Given the description of an element on the screen output the (x, y) to click on. 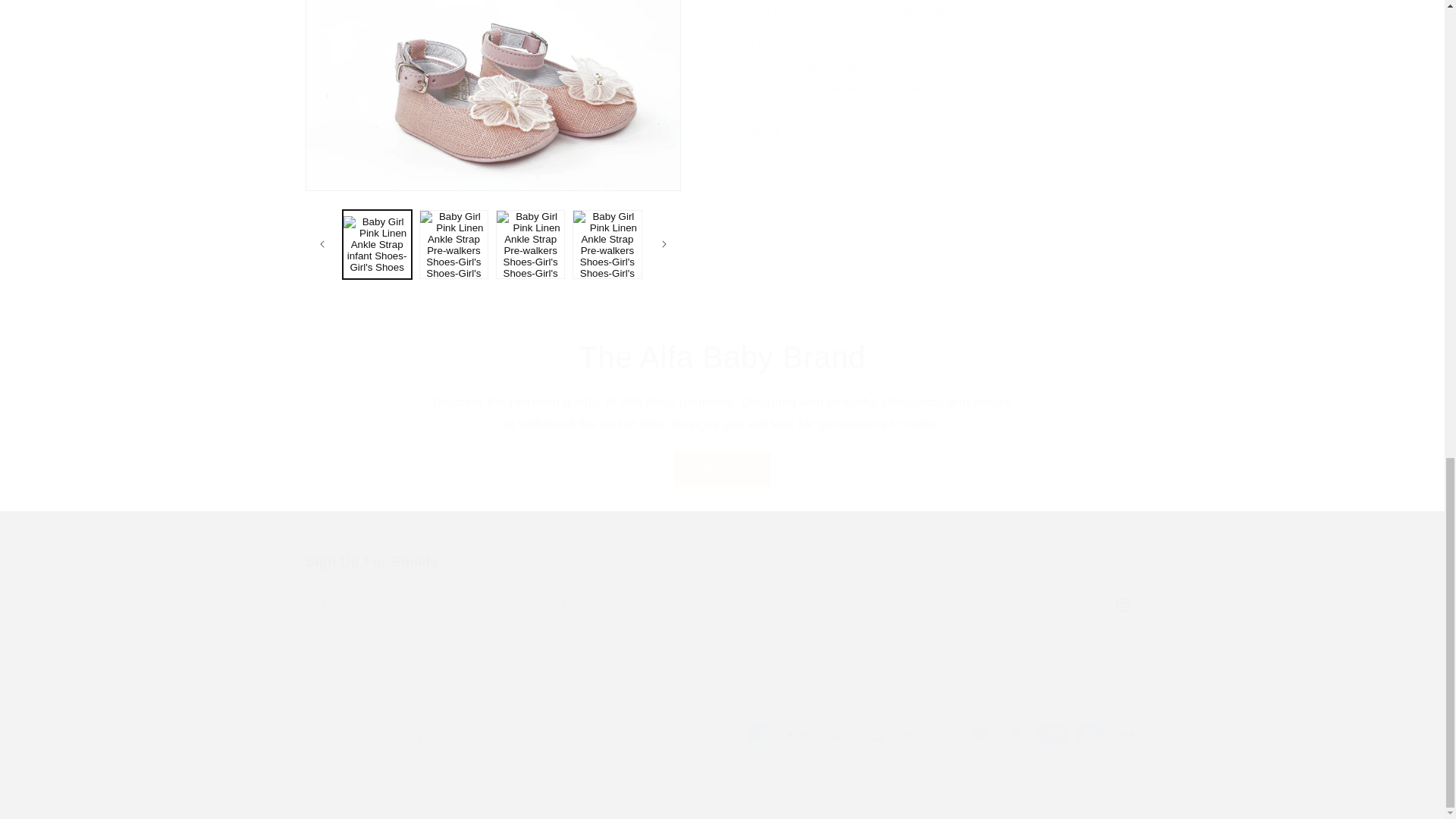
About Us (722, 468)
The Alfa Baby Brand (721, 587)
